Given the description of an element on the screen output the (x, y) to click on. 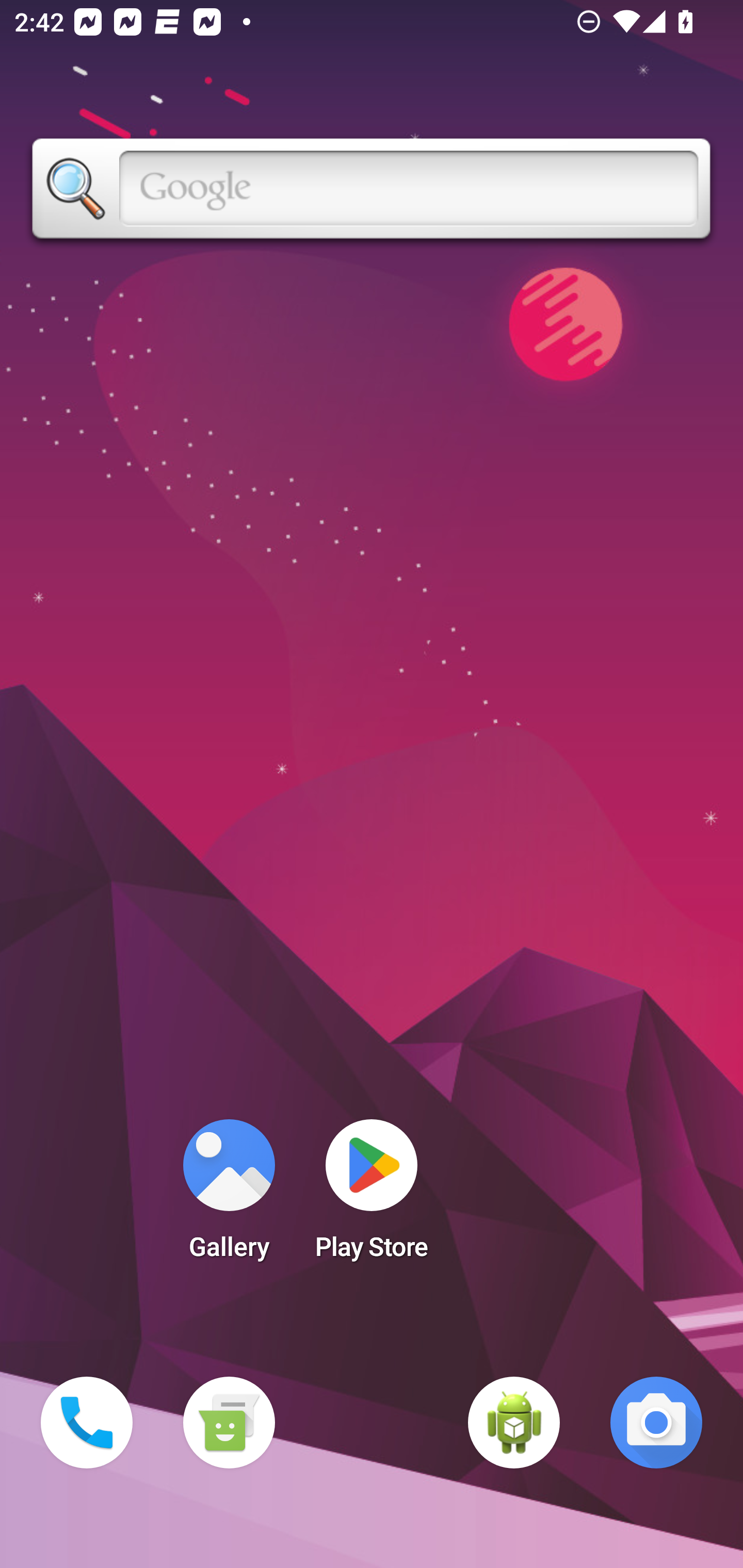
Gallery (228, 1195)
Play Store (371, 1195)
Phone (86, 1422)
Messaging (228, 1422)
WebView Browser Tester (513, 1422)
Camera (656, 1422)
